Given the description of an element on the screen output the (x, y) to click on. 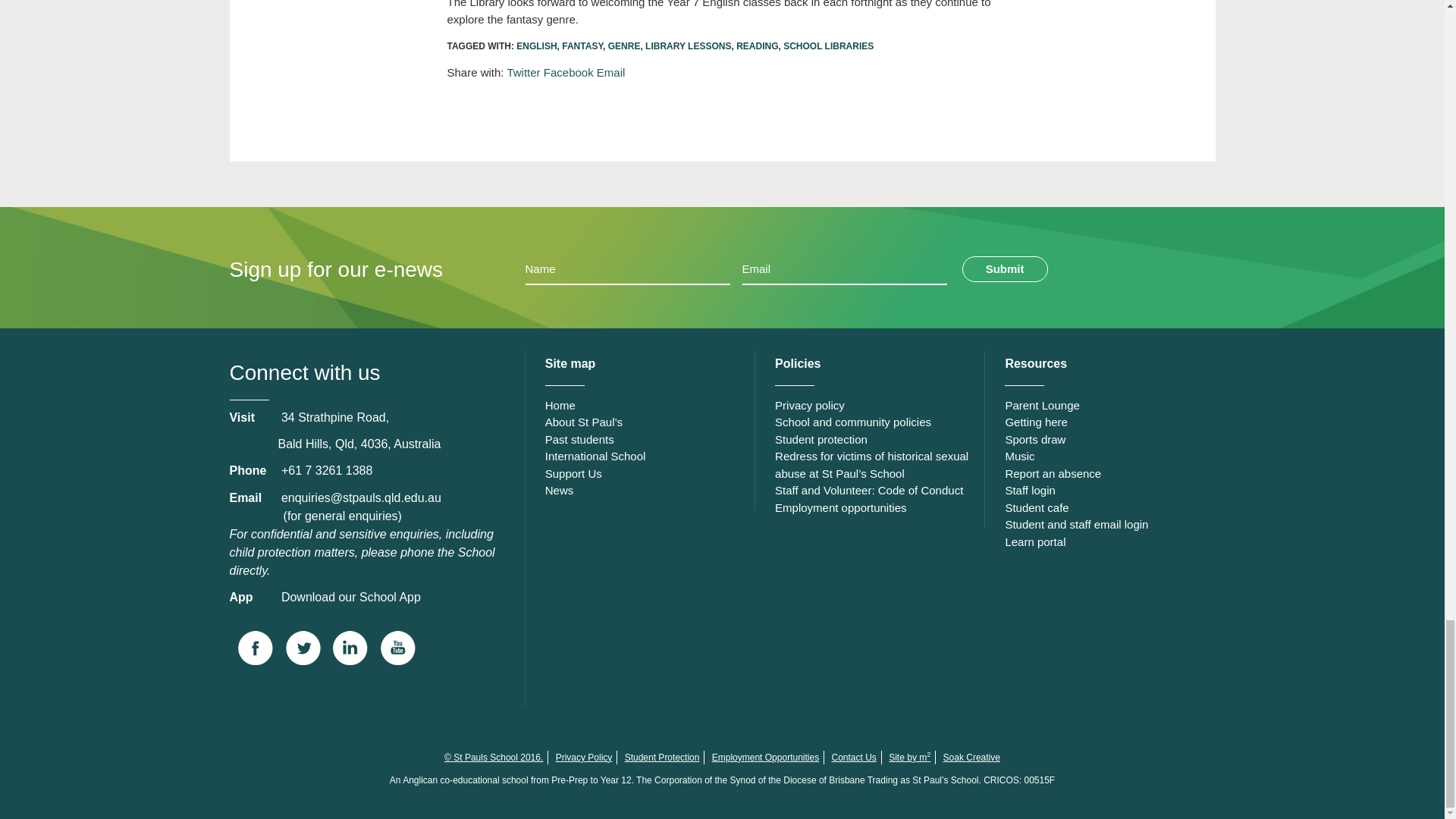
Submit (1005, 268)
Tweet this! (523, 72)
Email (611, 72)
Share on Facebook! (568, 72)
